Given the description of an element on the screen output the (x, y) to click on. 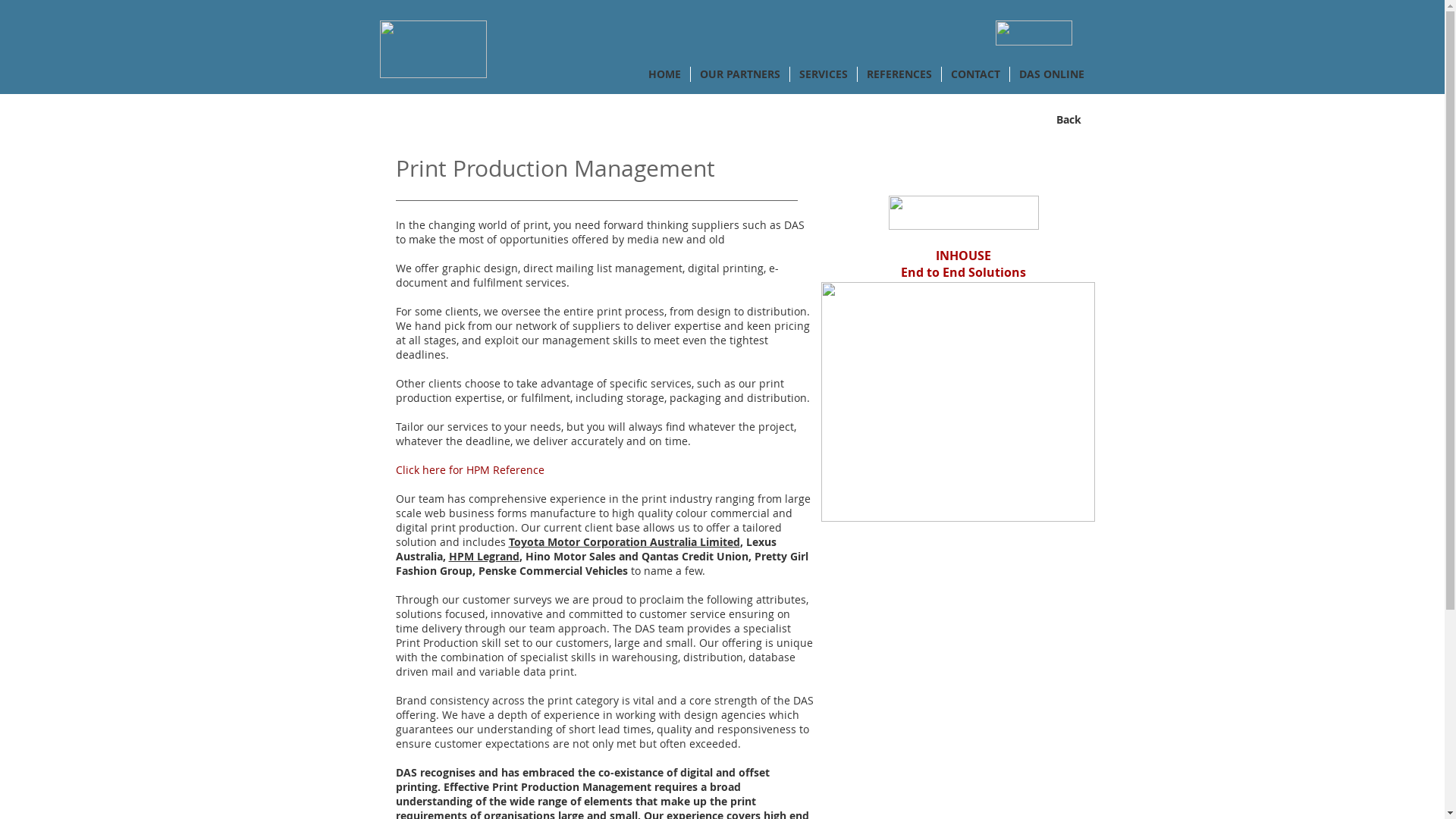
print_production.png Element type: hover (957, 401)
CONTACT Element type: text (975, 73)
DAS ONLINE Element type: text (1051, 73)
SERVICES Element type: text (823, 73)
Back Element type: text (1067, 120)
Toyota Motor Corporation Australia Limited Element type: text (623, 541)
HPM Legrand Element type: text (483, 556)
HOME Element type: text (663, 73)
REFERENCES Element type: text (898, 73)
Click here for HPM Reference Element type: text (469, 469)
OUR PARTNERS Element type: text (739, 73)
